Given the description of an element on the screen output the (x, y) to click on. 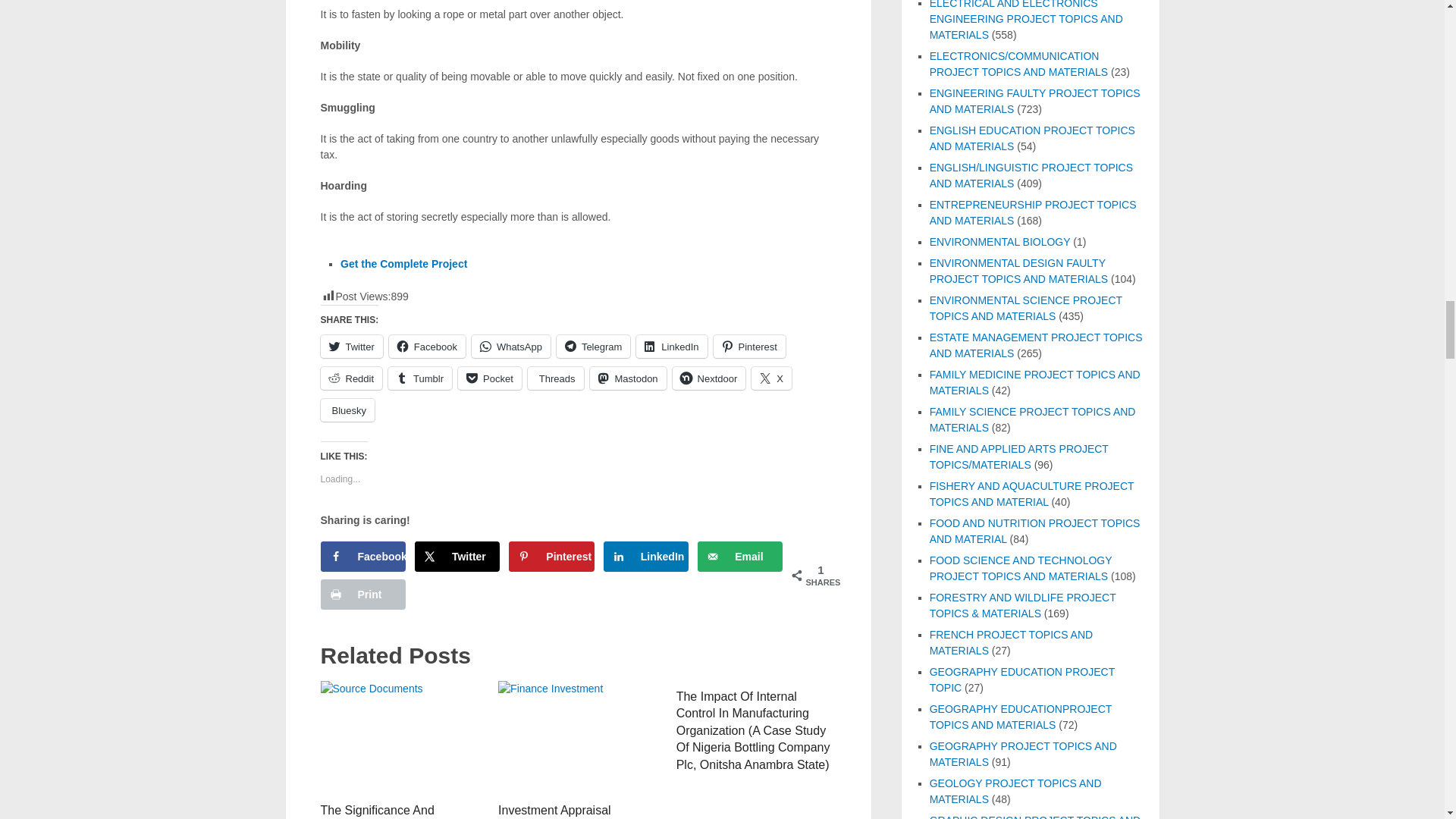
Click to share on Mastodon (627, 377)
Click to share on Facebook (426, 345)
Click to share on Tumblr (419, 377)
Click to share on Telegram (593, 345)
Click to share on Pinterest (748, 345)
Click to share on Twitter (350, 345)
Click to share on Reddit (350, 377)
Click to share on Threads (555, 377)
Click to share on WhatsApp (510, 345)
Click to share on Pocket (489, 377)
Click to share on LinkedIn (671, 345)
